Given the description of an element on the screen output the (x, y) to click on. 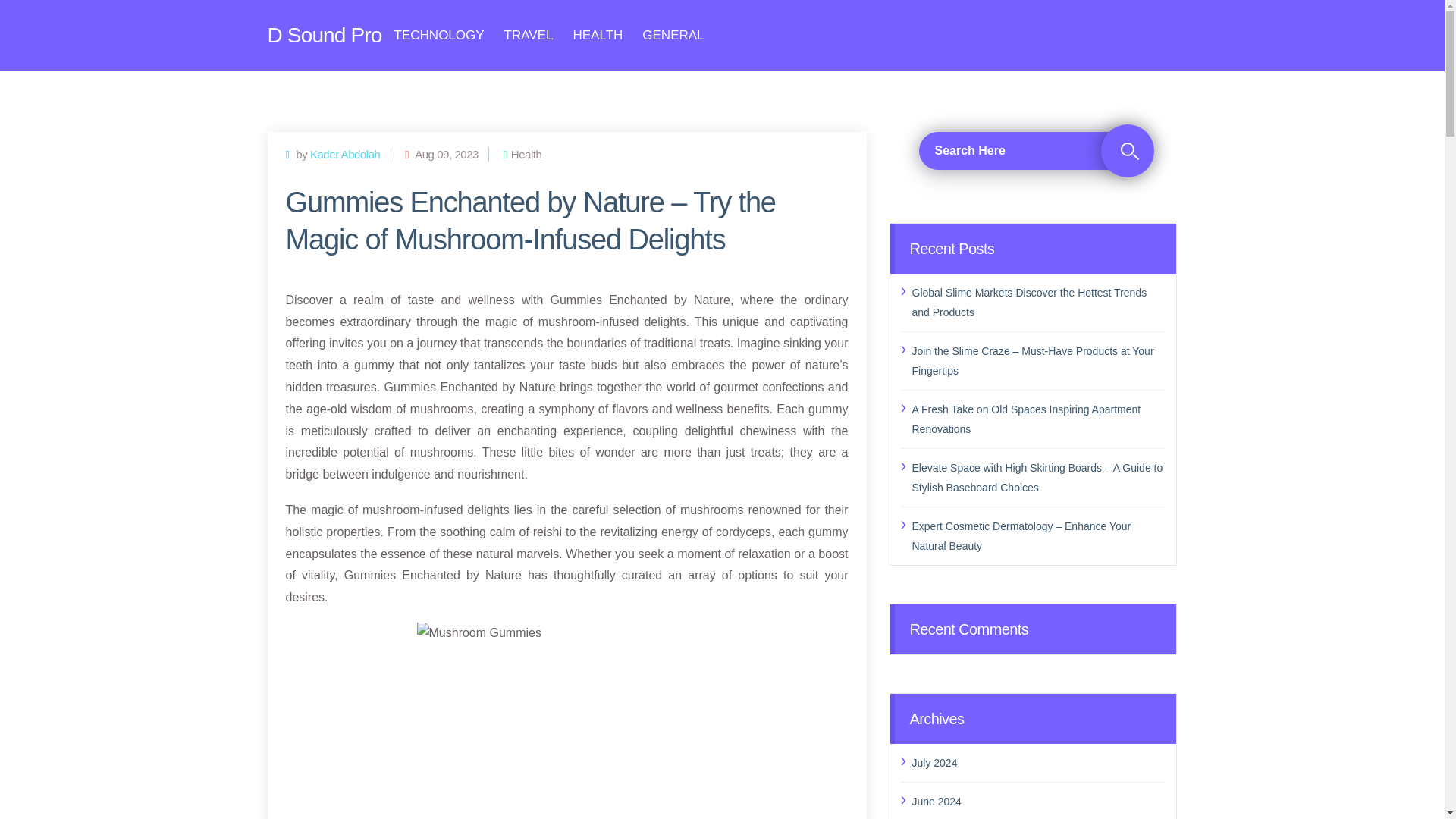
Kader Abdolah (345, 153)
GENERAL (672, 35)
HEALTH (597, 35)
July 2024 (1038, 762)
TECHNOLOGY (439, 35)
D Sound Pro (323, 35)
June 2024 (1038, 801)
A Fresh Take on Old Spaces Inspiring Apartment Renovations (1038, 418)
TRAVEL (528, 35)
